Given the description of an element on the screen output the (x, y) to click on. 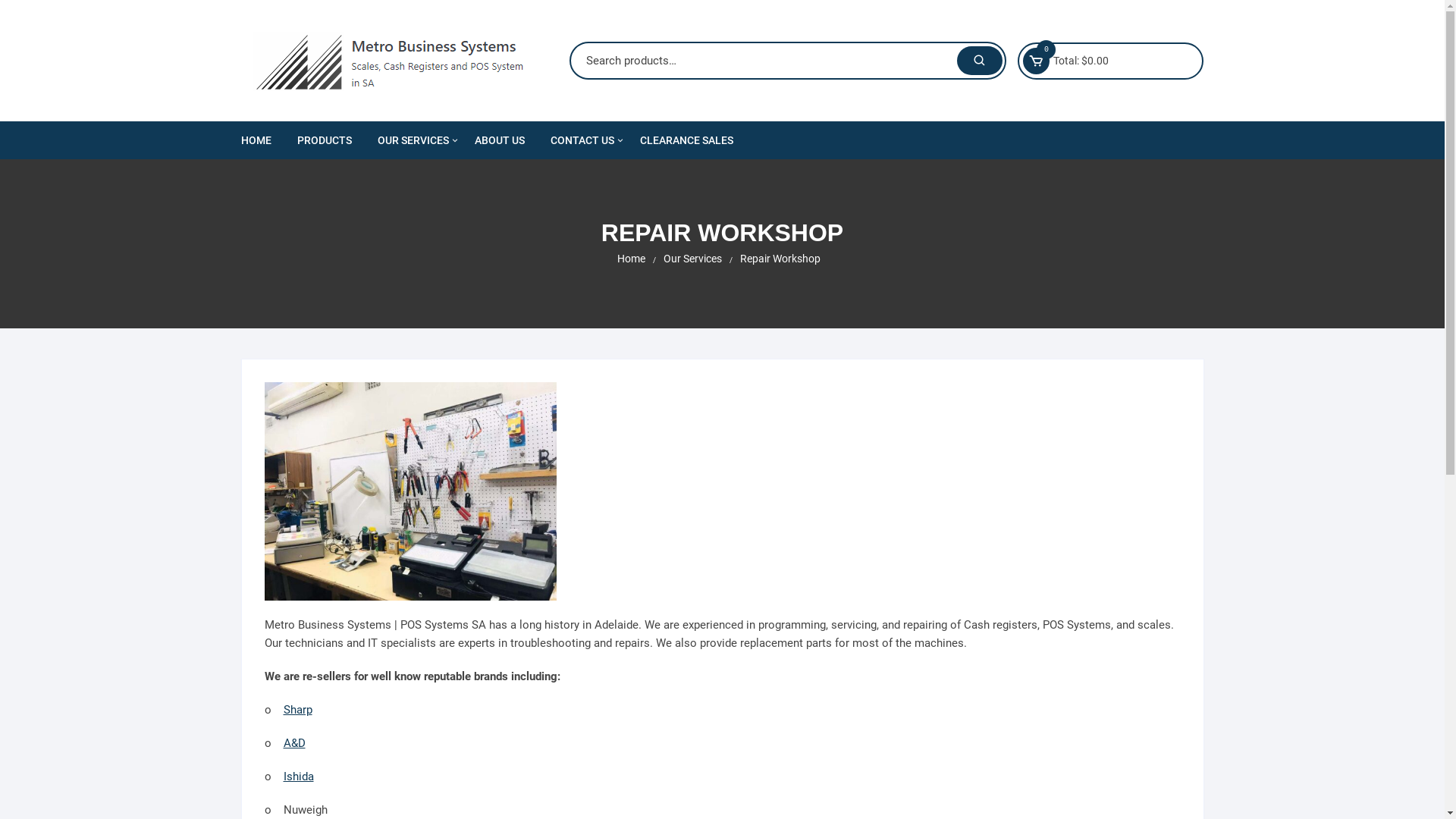
0 Element type: text (1035, 60)
Sharp Element type: text (297, 709)
CONTACT US Element type: text (581, 140)
Home Element type: text (631, 258)
A&D Element type: text (294, 742)
Enquiry Form Element type: text (633, 176)
HOME Element type: text (261, 140)
PRODUCTS Element type: text (323, 140)
Our Services Element type: text (691, 258)
Business Supplies Element type: text (460, 213)
ABOUT US Element type: text (498, 140)
Hire Element type: text (460, 286)
CLEARANCE SALES Element type: text (685, 140)
Installation & Delivery Element type: text (460, 250)
OUR SERVICES Element type: text (412, 140)
Scale Calibration Element type: text (460, 177)
Repair Workshop Element type: text (780, 258)
Repair Workshop Element type: text (460, 322)
Ishida Element type: text (298, 776)
